Given the description of an element on the screen output the (x, y) to click on. 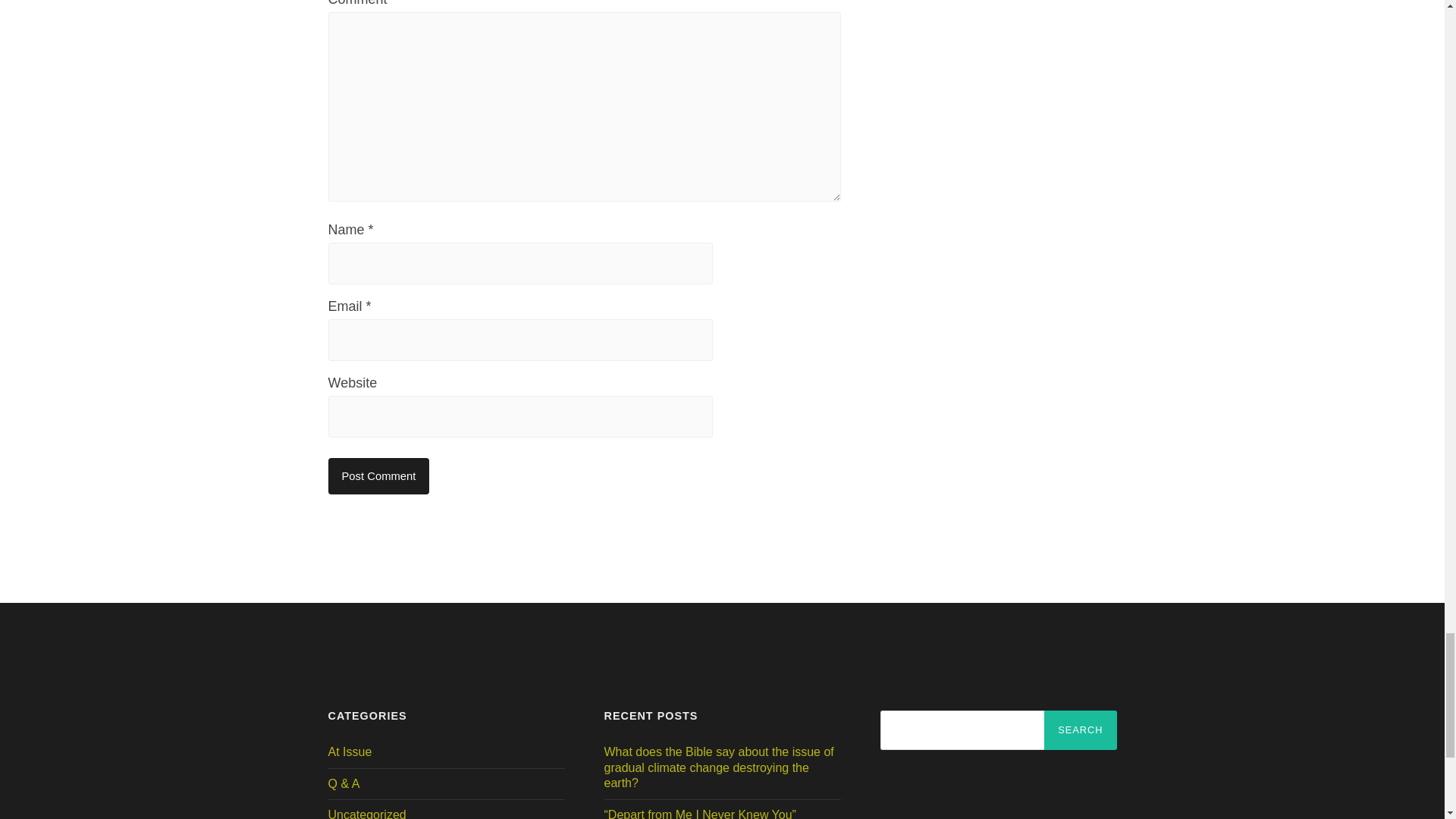
Post Comment (378, 475)
At Issue (349, 751)
Search (1079, 730)
Post Comment (378, 475)
